Given the description of an element on the screen output the (x, y) to click on. 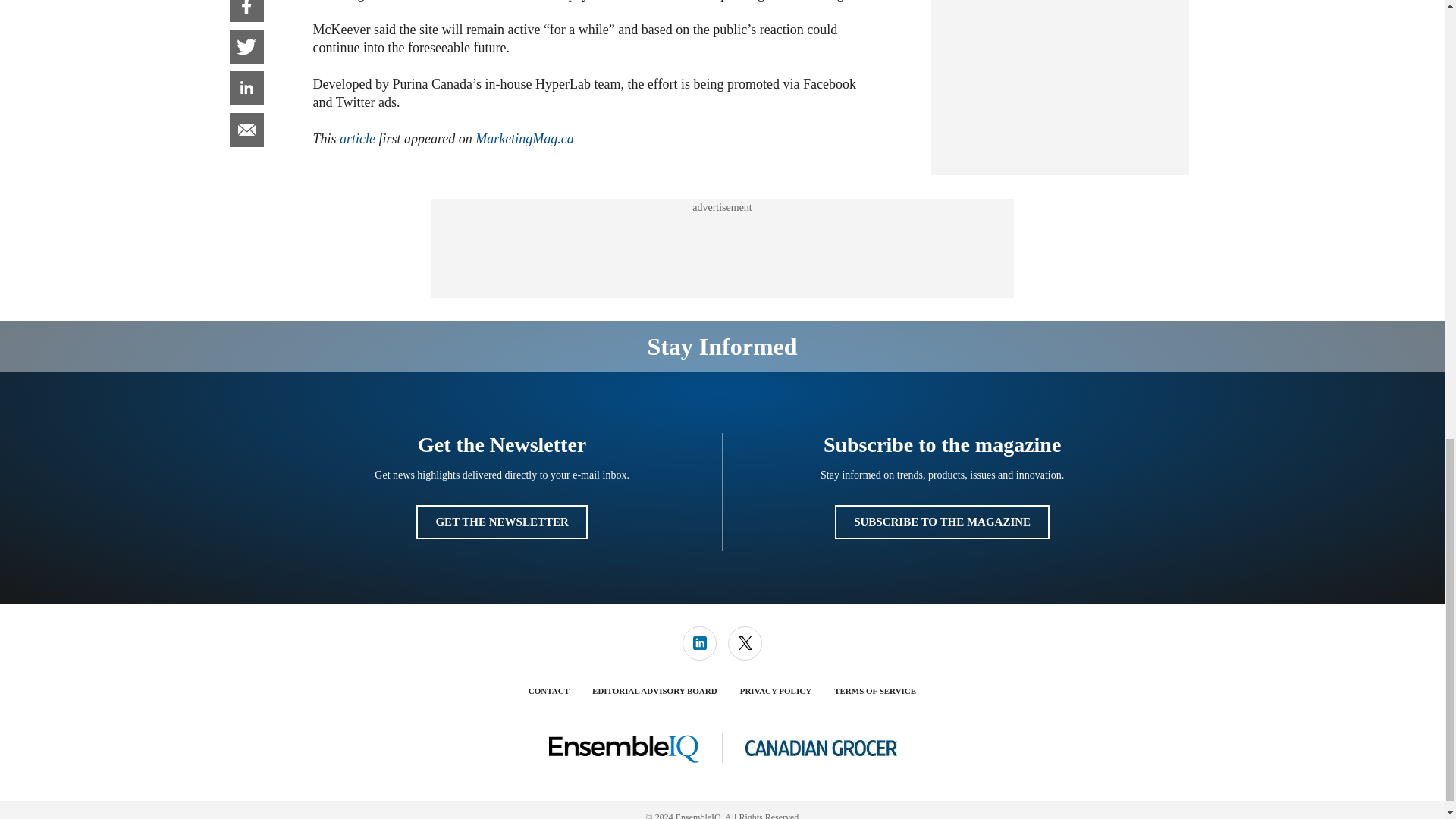
3rd party ad content (1059, 79)
3rd party ad content (721, 248)
